Given the description of an element on the screen output the (x, y) to click on. 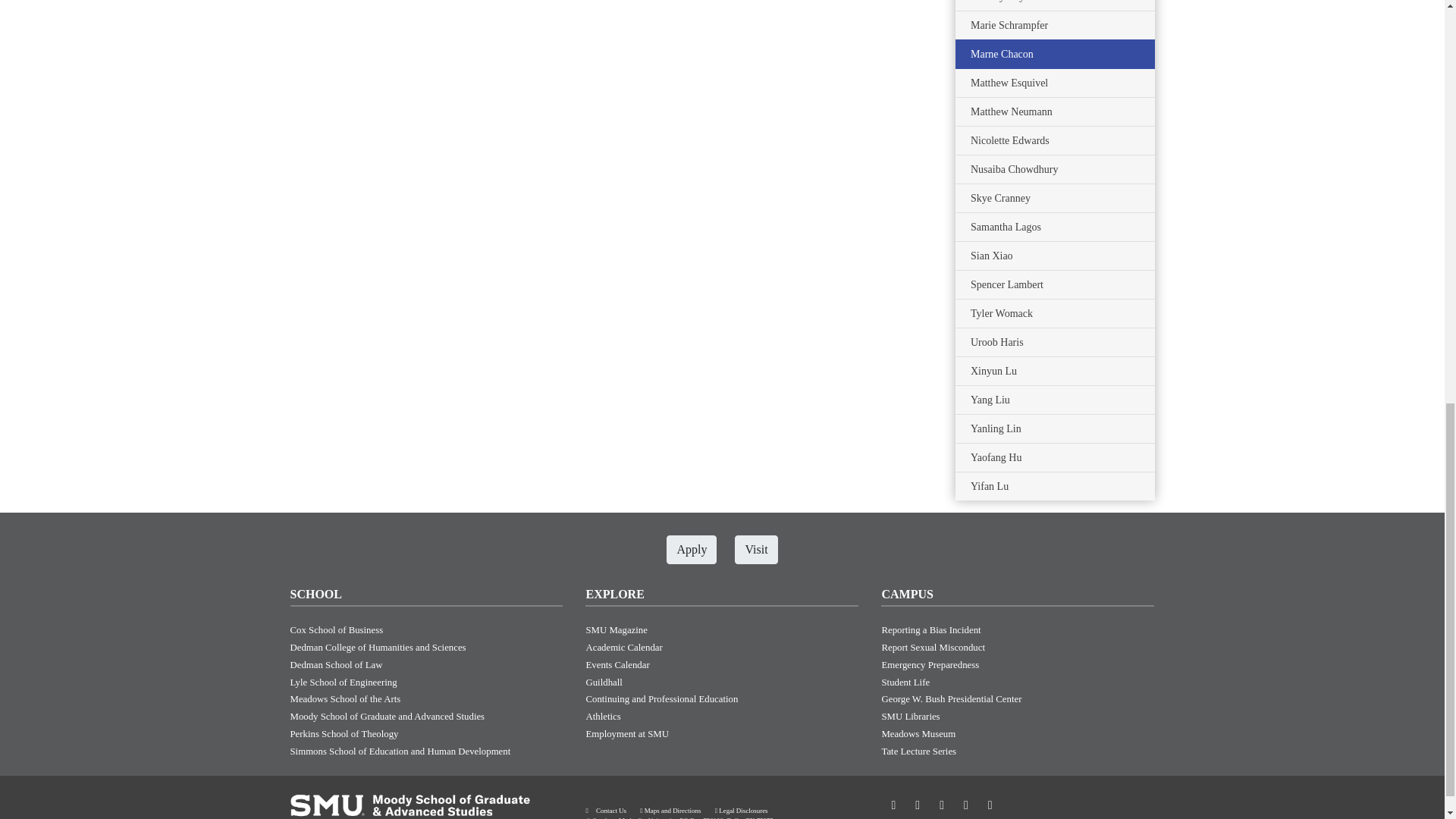
Cox School of Business (335, 629)
Meadows School of the Arts (344, 698)
Dedman School of Law (335, 665)
Lyle School of Engineering (342, 682)
Moody School of Graduate and Advanced Studies (386, 716)
Dedman College of Humanities and Sciences (377, 647)
